Given the description of an element on the screen output the (x, y) to click on. 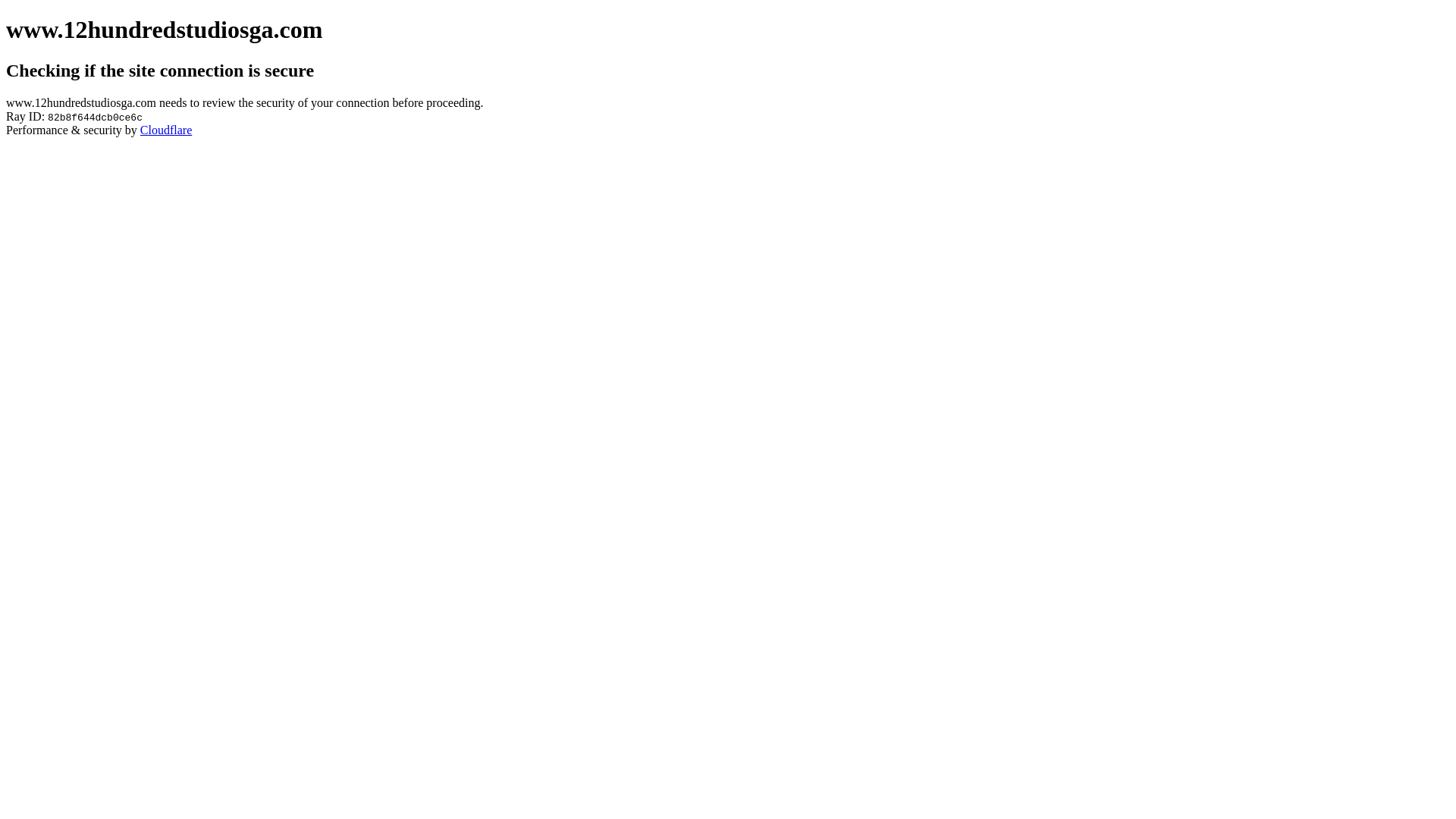
Cloudflare Element type: text (165, 129)
